Given the description of an element on the screen output the (x, y) to click on. 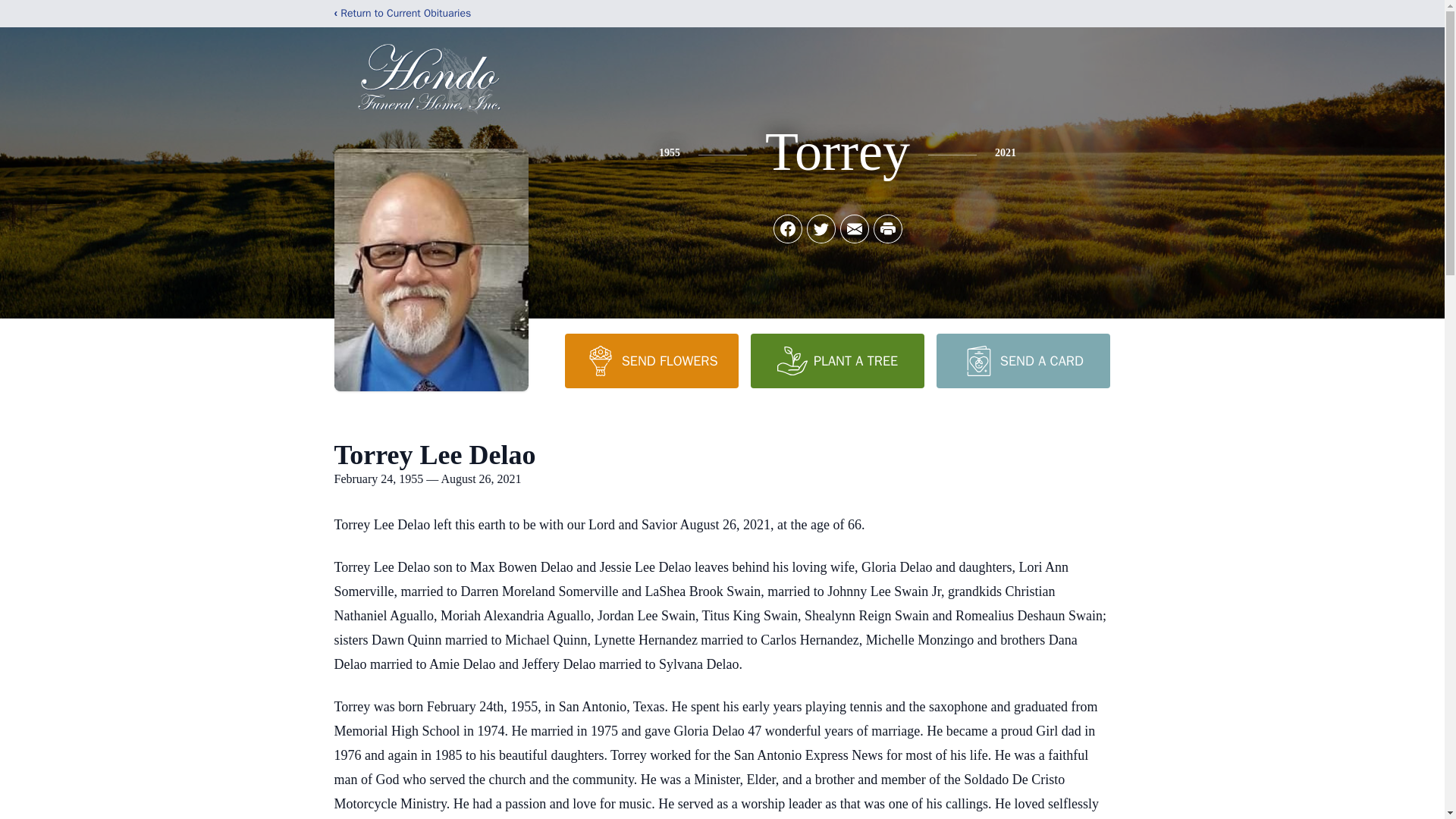
SEND A CARD (1022, 360)
SEND FLOWERS (651, 360)
PLANT A TREE (837, 360)
